Given the description of an element on the screen output the (x, y) to click on. 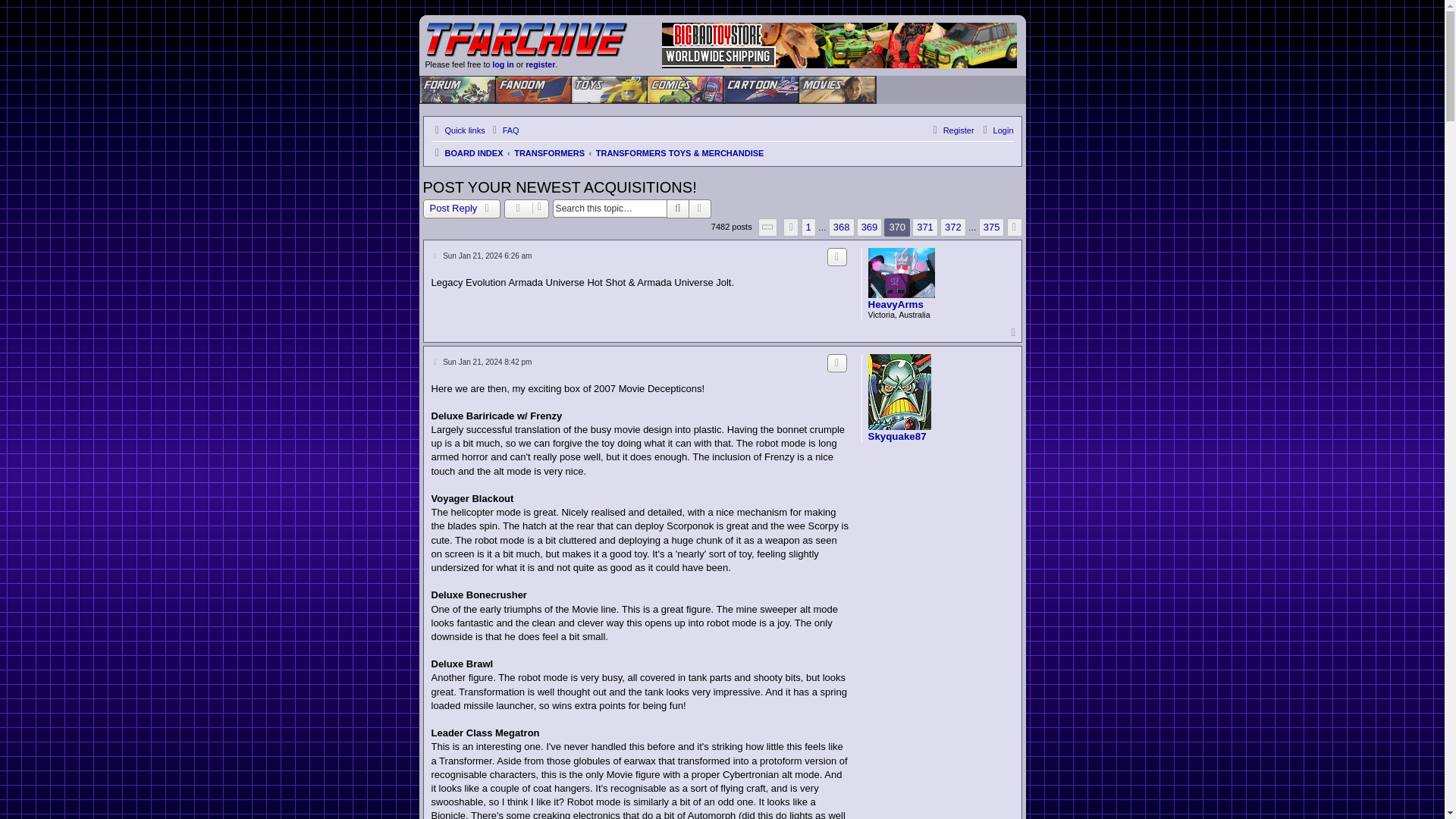
Topic tools (525, 208)
Search (677, 208)
Frequently Asked Questions (504, 130)
FAQ (504, 130)
BOARD INDEX (466, 153)
Login (996, 130)
log in (502, 63)
TRANSFORMERS (549, 153)
Register (952, 130)
Reply with quote (837, 257)
368 (841, 227)
Login (996, 130)
Advanced search (699, 208)
Page of (767, 227)
register (539, 63)
